Given the description of an element on the screen output the (x, y) to click on. 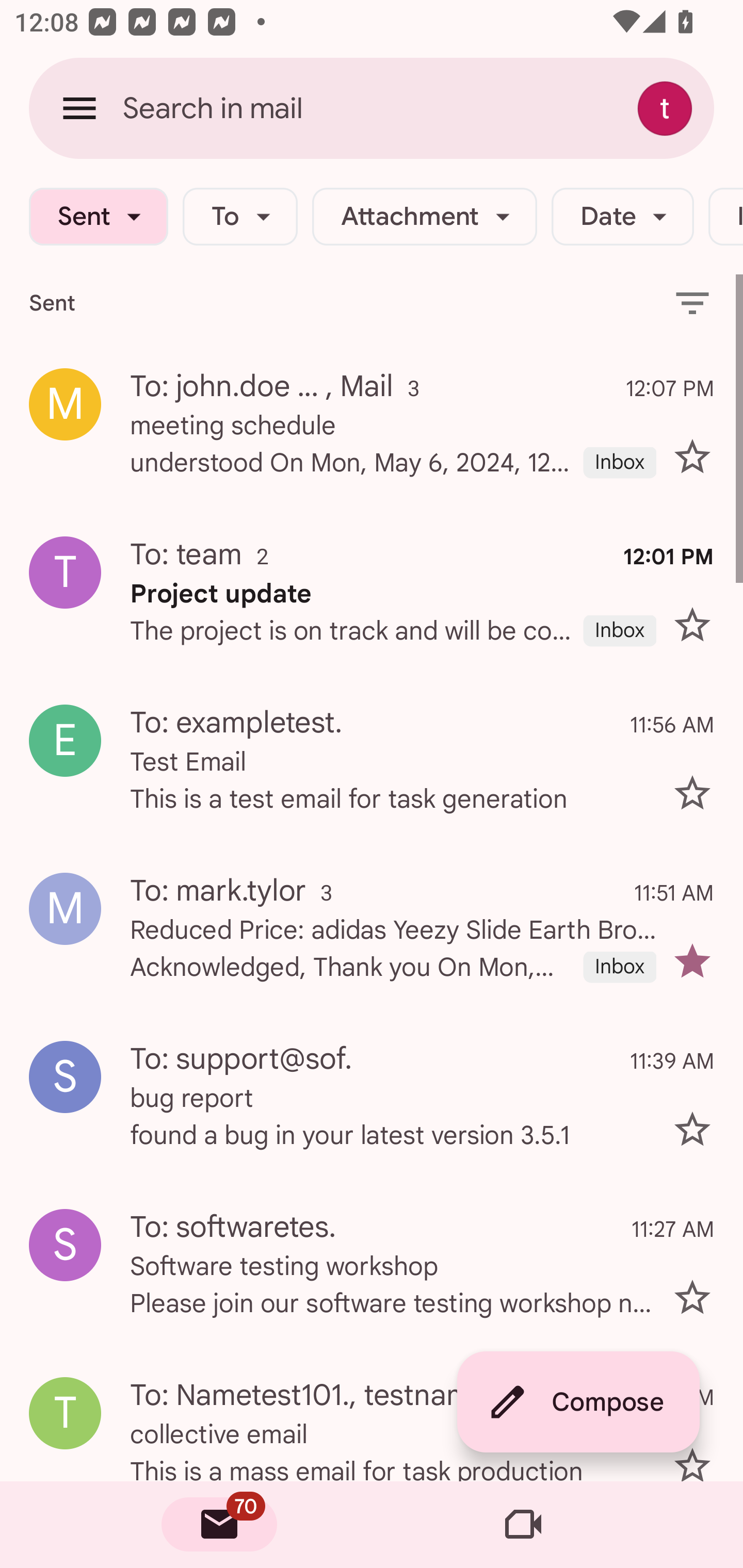
Open navigation drawer (79, 108)
Sent (97, 217)
To (239, 217)
Attachment (424, 217)
Date (622, 217)
Filter icon (692, 302)
Compose (577, 1401)
Meet (523, 1524)
